Given the description of an element on the screen output the (x, y) to click on. 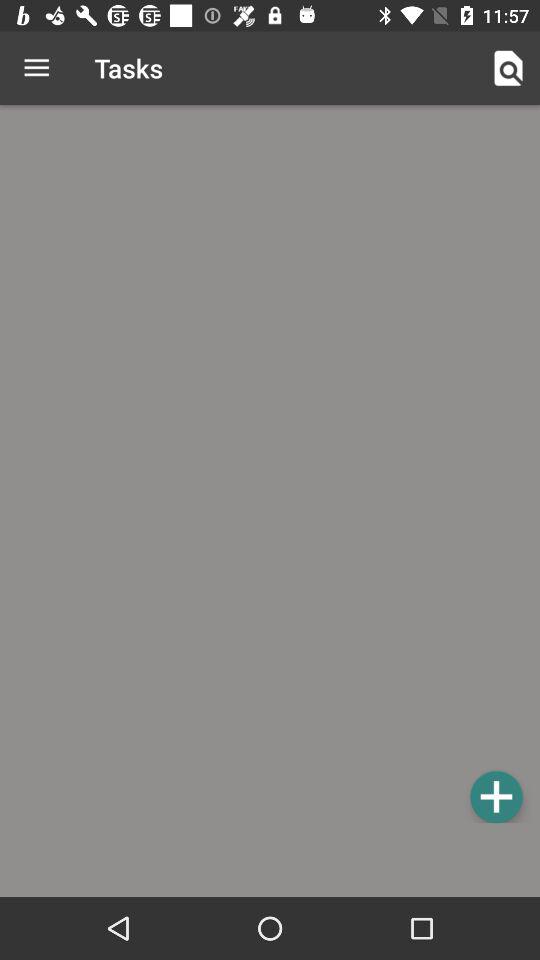
open icon next to the tasks item (508, 67)
